Given the description of an element on the screen output the (x, y) to click on. 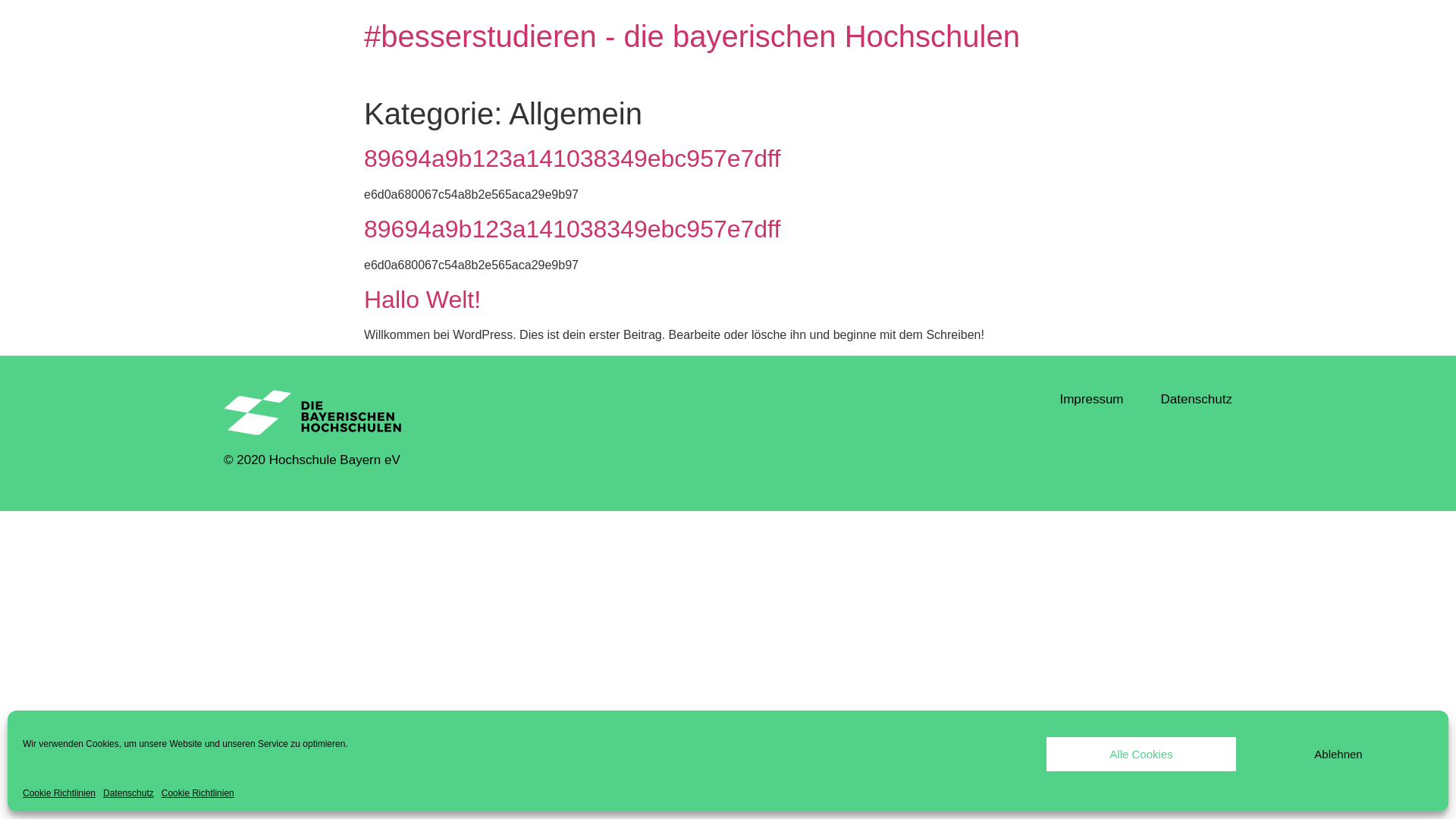
Hallo Welt! Element type: text (422, 299)
89694a9b123a141038349ebc957e7dff Element type: text (572, 158)
Datenschutz Element type: text (128, 793)
Cookie Richtlinien Element type: text (58, 793)
Ablehnen Element type: text (1338, 754)
Cookie Richtlinien Element type: text (197, 793)
89694a9b123a141038349ebc957e7dff Element type: text (572, 228)
#besserstudieren - die bayerischen Hochschulen Element type: text (691, 36)
Datenschutz Element type: text (1196, 399)
Impressum Element type: text (1091, 399)
Alle Cookies Element type: text (1141, 754)
Logo Element type: hover (312, 412)
